Given the description of an element on the screen output the (x, y) to click on. 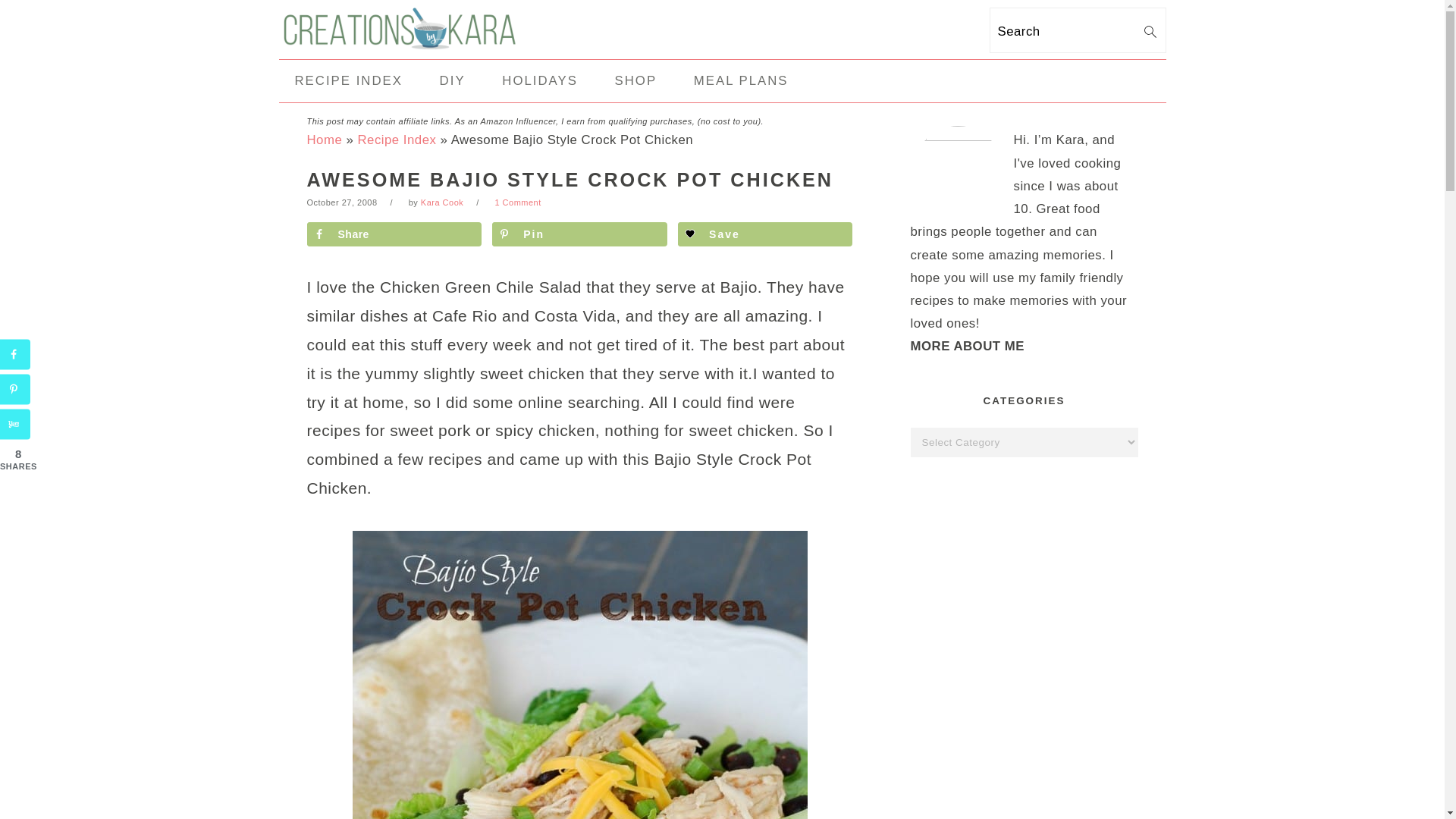
Creations by Kara (400, 40)
RECIPE INDEX (349, 80)
Save to Pinterest (579, 233)
Save to Pinterest (15, 389)
Share on Facebook (15, 354)
Share on Yummly (15, 424)
Share on Facebook (392, 233)
Save on Grow.me (764, 233)
Creations by Kara (400, 28)
